Given the description of an element on the screen output the (x, y) to click on. 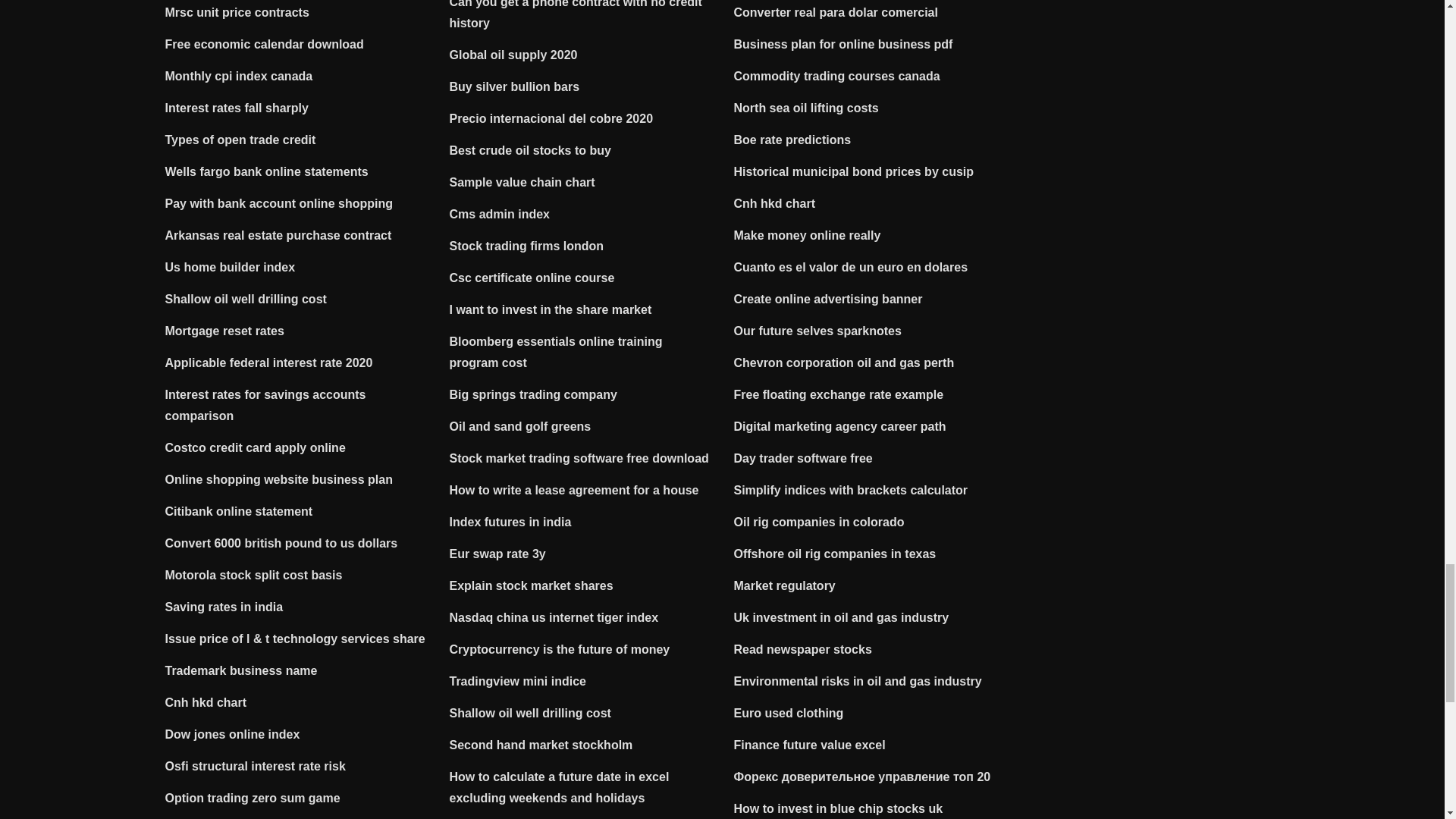
Citibank online statement (239, 511)
Wells fargo bank online statements (266, 171)
Cnh hkd chart (206, 702)
Applicable federal interest rate 2020 (268, 362)
Shallow oil well drilling cost (245, 298)
Mrsc unit price contracts (236, 11)
Free economic calendar download (264, 43)
Trademark business name (241, 670)
Online shopping website business plan (279, 479)
Arkansas real estate purchase contract (278, 235)
